Given the description of an element on the screen output the (x, y) to click on. 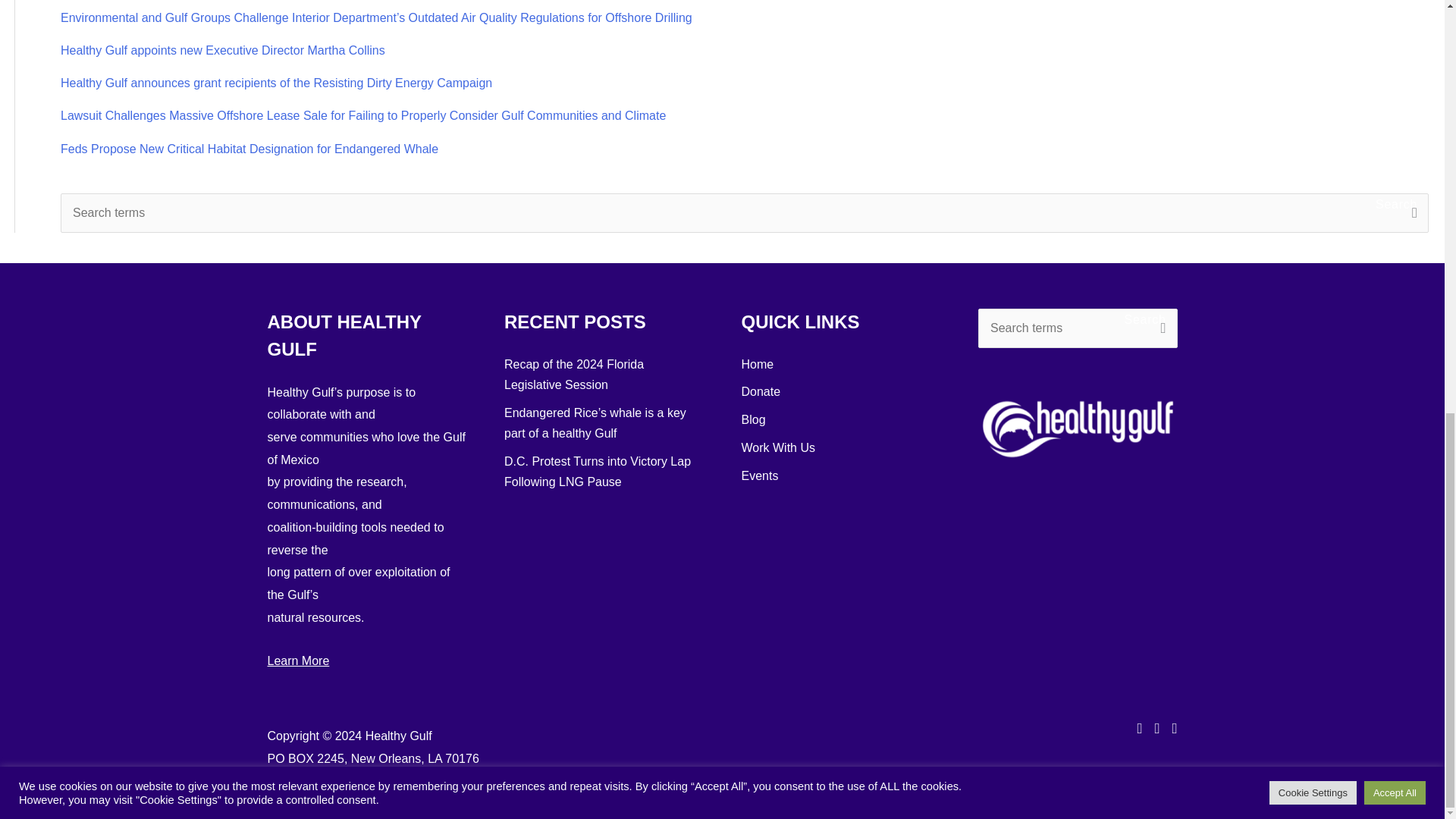
Search for: (1077, 328)
Search for: (744, 212)
